Given the description of an element on the screen output the (x, y) to click on. 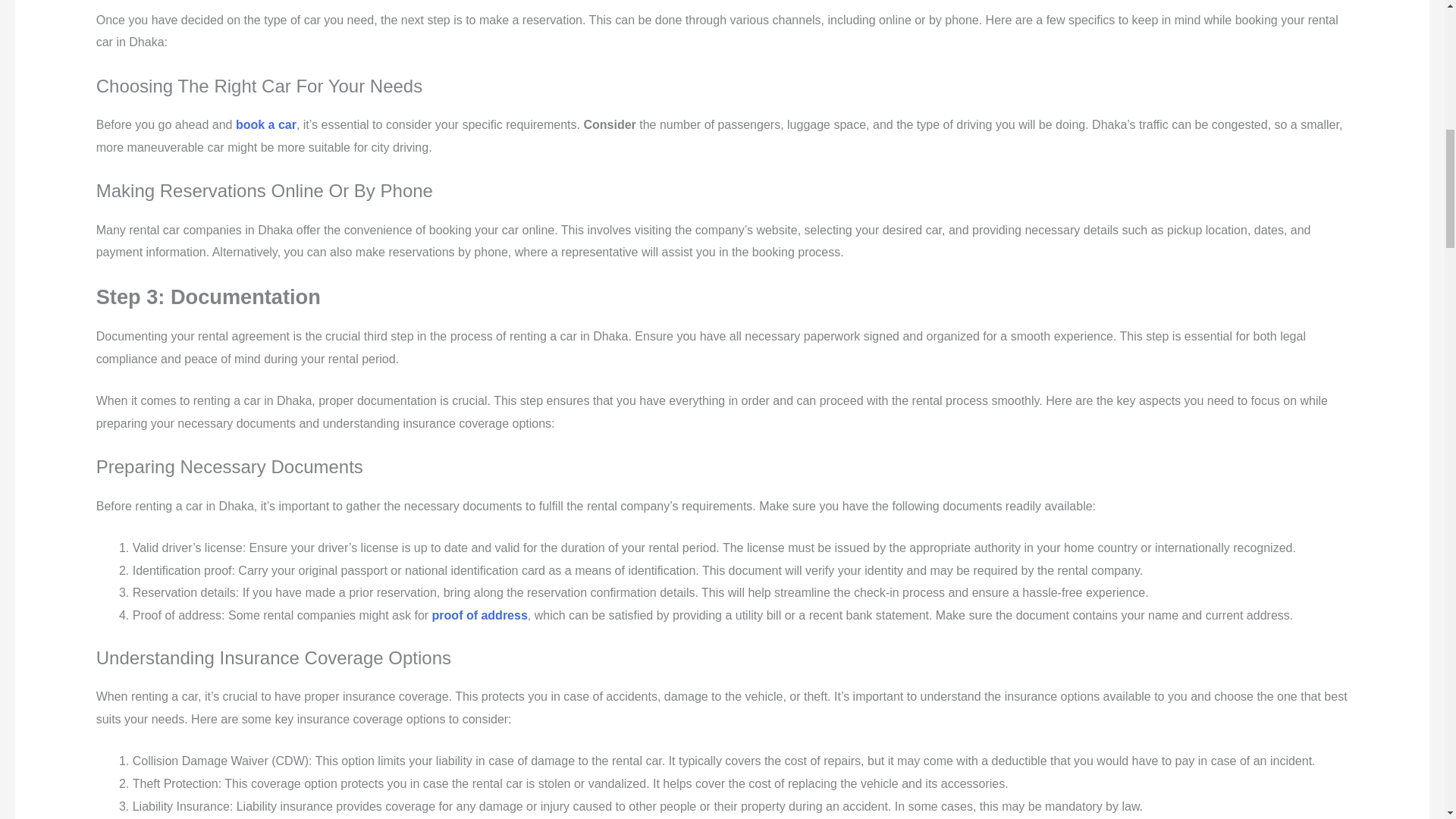
proof of address (479, 615)
book a car (266, 124)
